Given the description of an element on the screen output the (x, y) to click on. 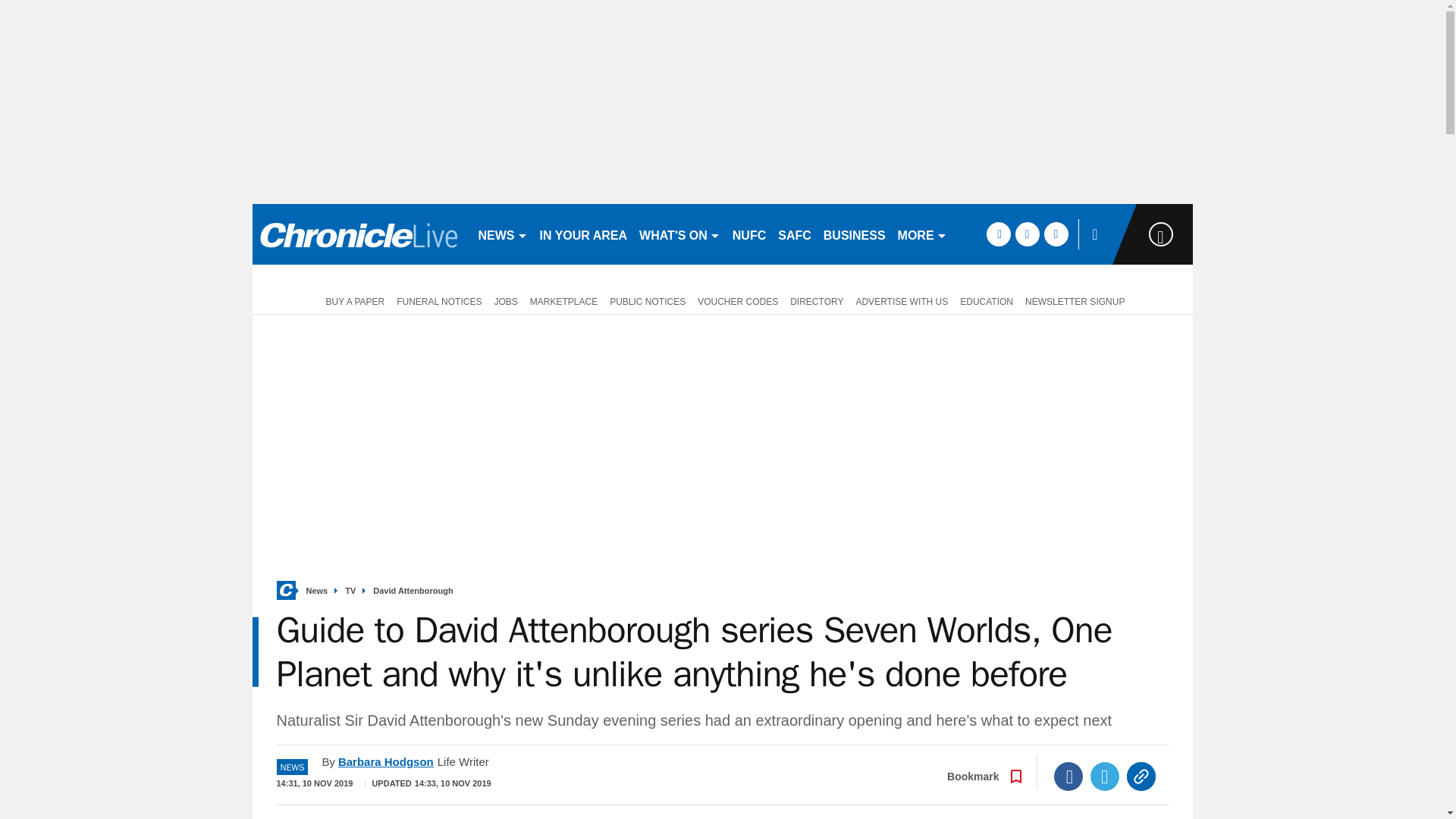
WHAT'S ON (679, 233)
MORE (922, 233)
Facebook (1068, 776)
nechronicle (357, 233)
NEWS (501, 233)
IN YOUR AREA (583, 233)
twitter (1026, 233)
instagram (1055, 233)
BUSINESS (853, 233)
facebook (997, 233)
Twitter (1104, 776)
